Given the description of an element on the screen output the (x, y) to click on. 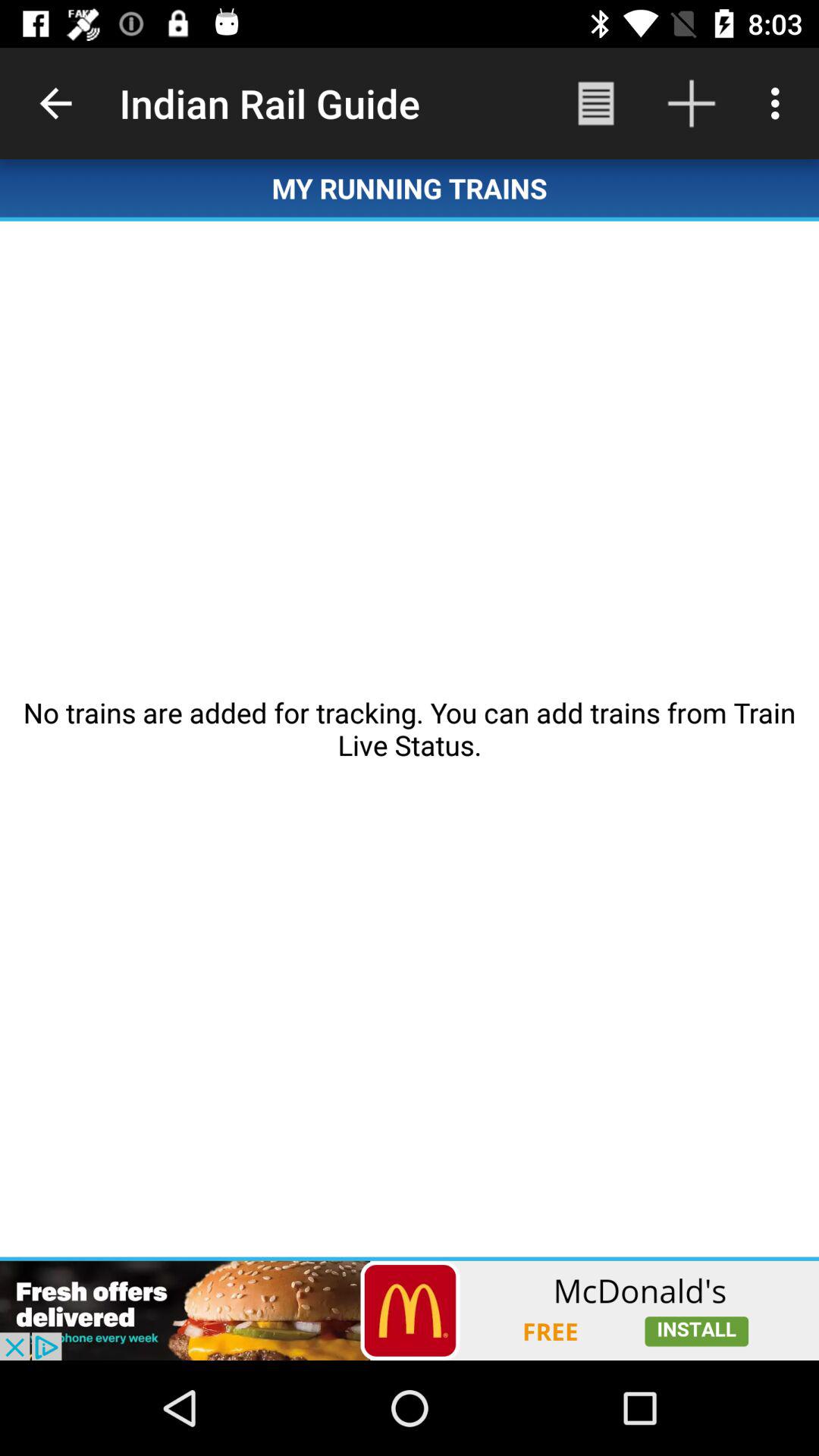
select this advertisement (409, 1310)
